Given the description of an element on the screen output the (x, y) to click on. 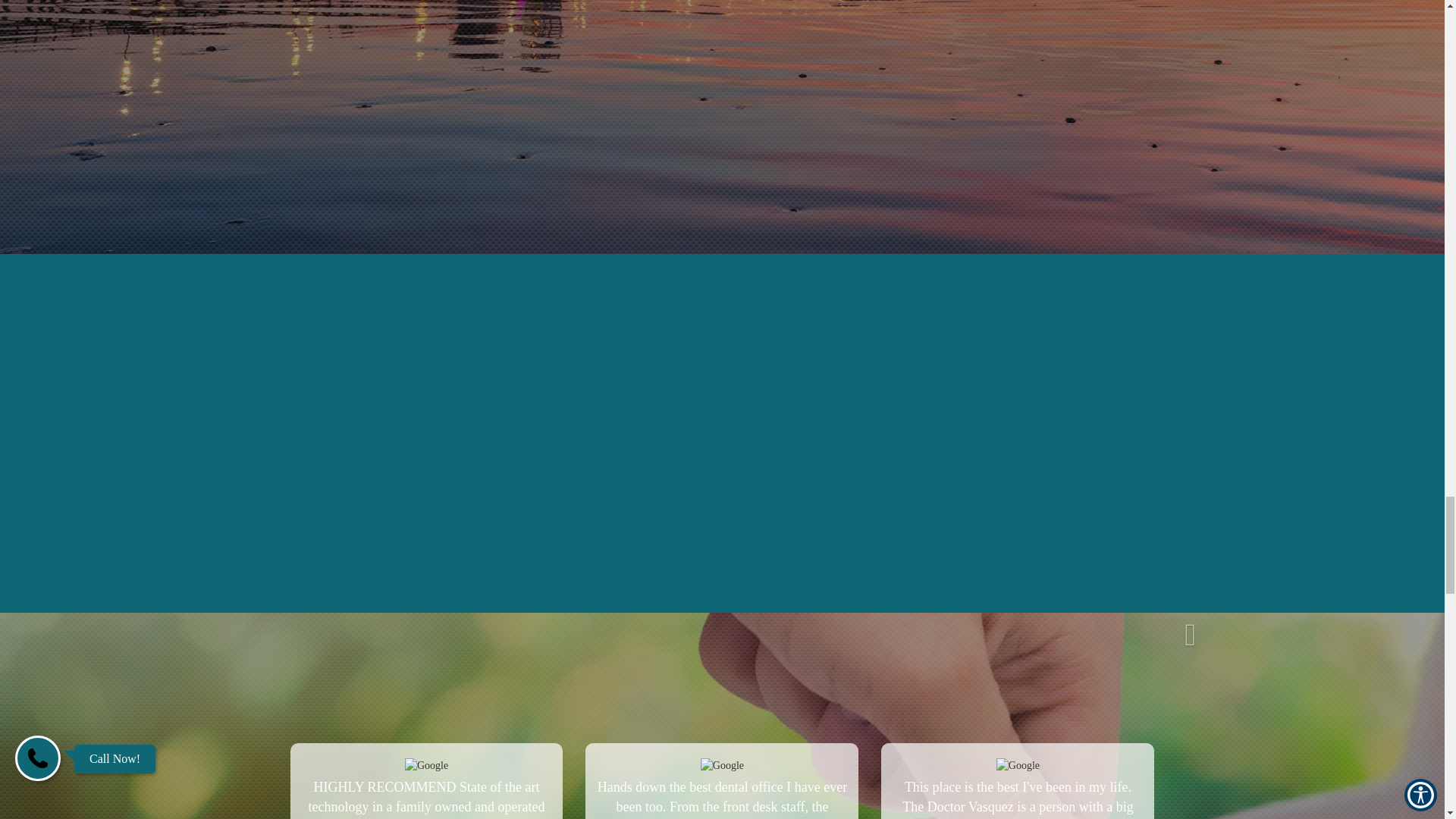
Google (722, 765)
Google (426, 765)
Google (1017, 765)
